Given the description of an element on the screen output the (x, y) to click on. 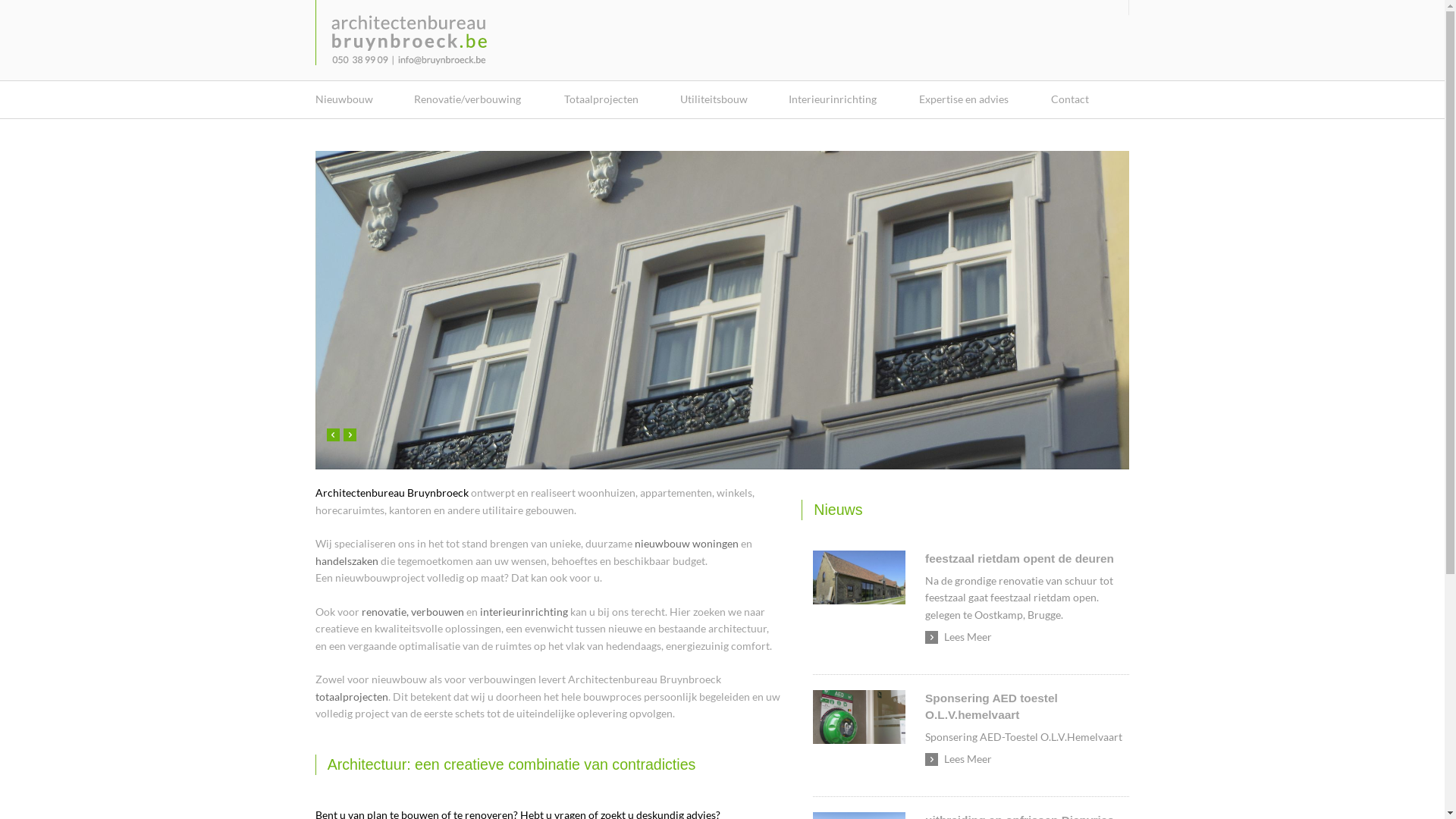
interieurinrichting Element type: text (523, 611)
Expertise en advies Element type: text (966, 99)
totaalprojecten Element type: text (351, 696)
DEFAULT_TITLE Element type: hover (408, 40)
Next Element type: text (349, 434)
Previous Element type: text (332, 434)
Contact Element type: text (1071, 99)
renovatie, verbouwen Element type: text (412, 611)
handelszaken Element type: text (346, 560)
feestzaal rietdam opent de deuren Element type: hover (858, 577)
Utiliteitsbouw Element type: text (715, 99)
nieuwbouw woningen Element type: text (686, 542)
Totaalprojecten Element type: text (603, 99)
Sponsering AED toestel O.L.V.hemelvaart Element type: hover (858, 716)
Nieuwbouw Element type: text (345, 99)
Interieurinrichting Element type: text (834, 99)
Renovatie/verbouwing Element type: text (470, 99)
